Given the description of an element on the screen output the (x, y) to click on. 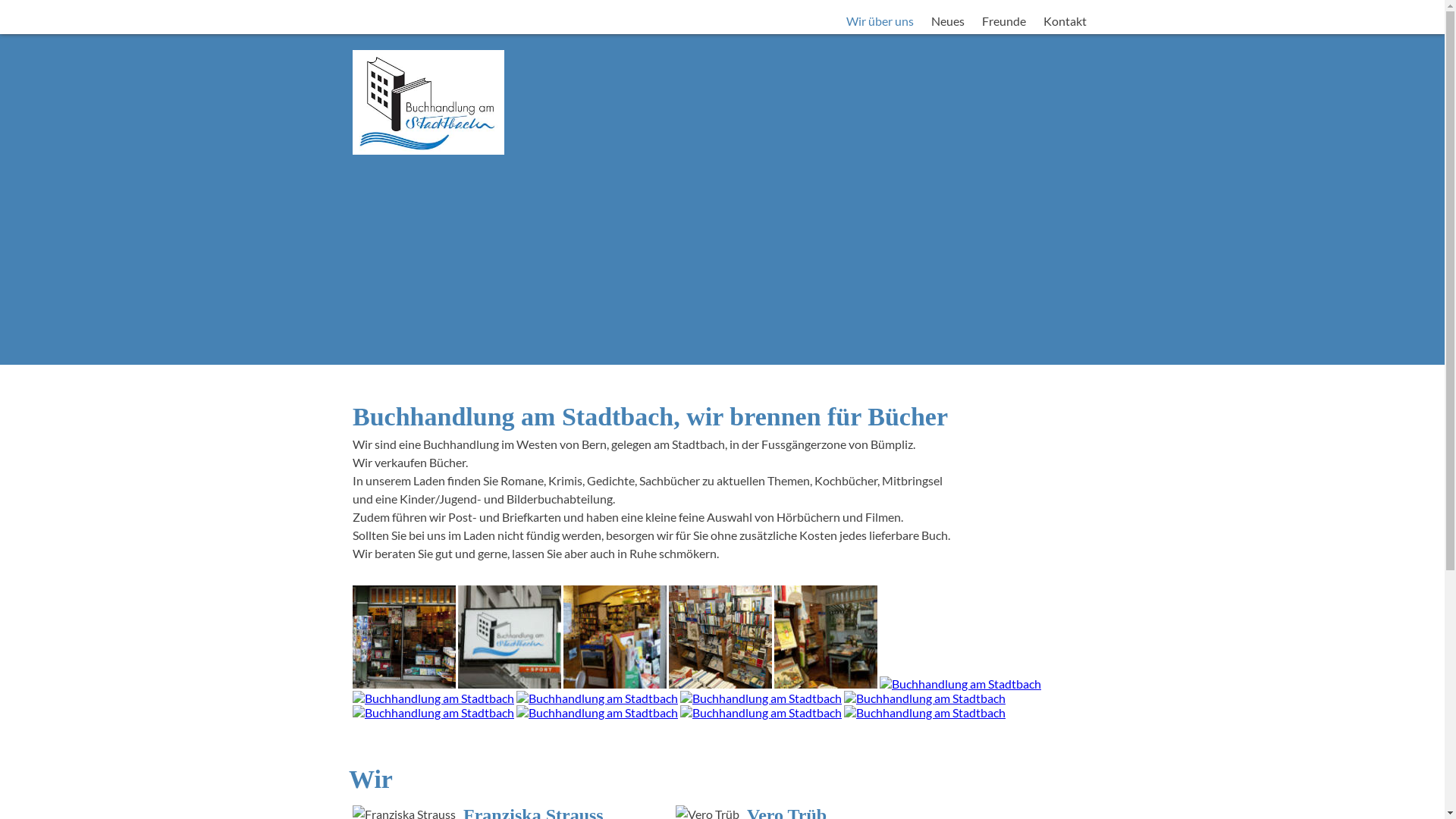
Buchhandlung am Stadtbach Element type: hover (825, 636)
Buchhandlung am Stadtbach Element type: hover (760, 697)
Kontakt Element type: text (1064, 20)
Buchhandlung am Stadtbach Element type: hover (509, 636)
Buchhandlung am Stadtbach Element type: hover (433, 697)
Freunde Element type: text (1003, 20)
Buchhandlung am Stadtbach Element type: hover (722, 88)
Buchhandlung am Stadtbach Element type: hover (403, 636)
Buchhandlung am Stadtbach Element type: hover (960, 683)
Buchhandlung am Stadtbach Element type: hover (719, 636)
Buchhandlung am Stadtbach Element type: hover (614, 636)
Buchhandlung am Stadtbach Element type: hover (924, 697)
Buchhandlung am Stadtbach Element type: hover (596, 712)
Buchhandlung am Stadtbach Element type: hover (924, 712)
Buchhandlung am Stadtbach Element type: hover (760, 712)
Neues Element type: text (947, 20)
Buchhandlung am Stadtbach Element type: hover (596, 697)
Buchhandlung am Stadtbach Element type: hover (433, 712)
